Given the description of an element on the screen output the (x, y) to click on. 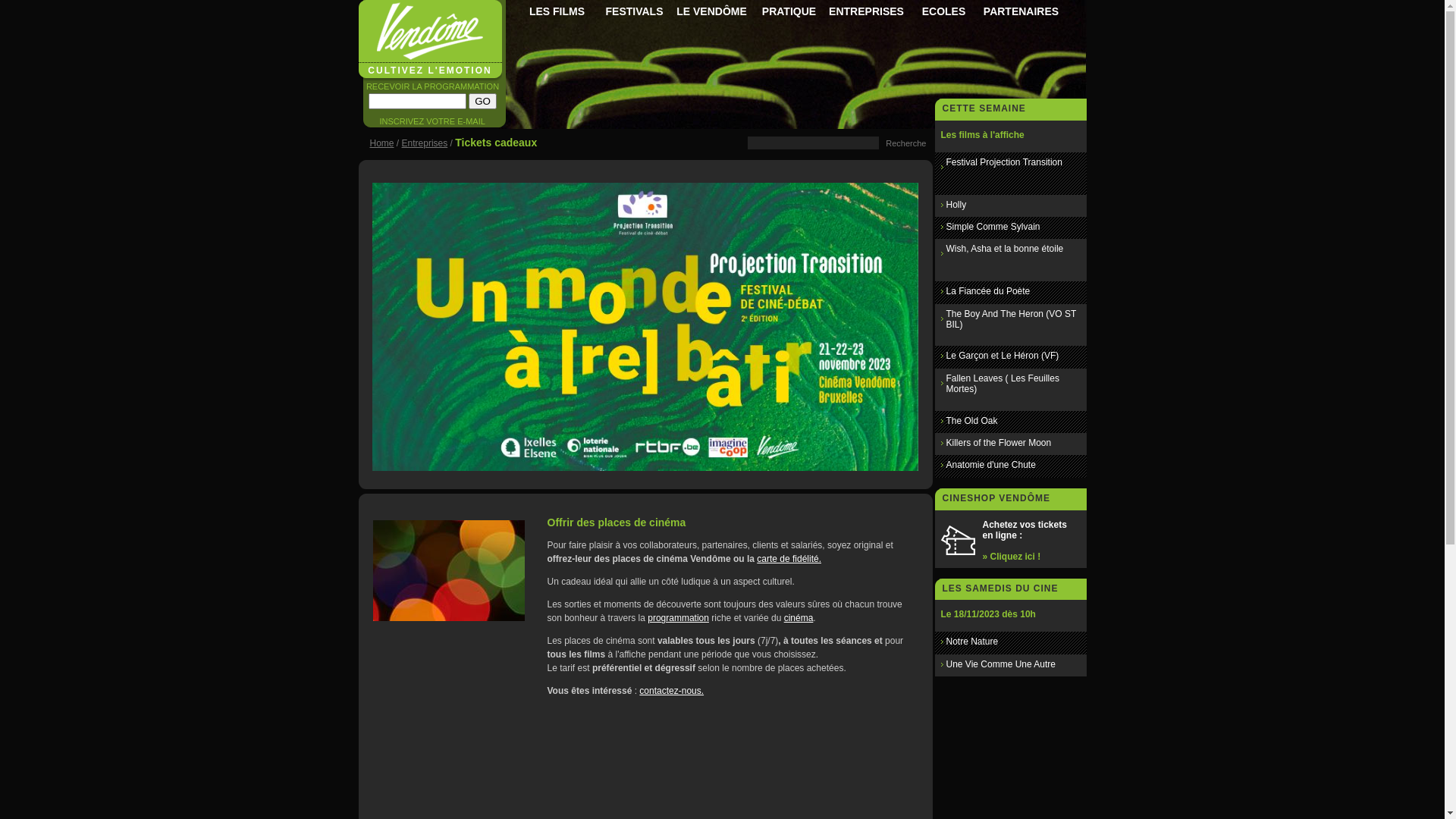
Cultivez l'Emotion Element type: hover (644, 467)
Inscrivez votre adresse email Element type: hover (417, 101)
Notre Nature Element type: text (972, 641)
Anatomie d'une Chute Element type: text (990, 464)
LES FILMS Element type: text (556, 11)
contactez-nous. Element type: text (671, 690)
Festival Projection Transition Element type: text (1004, 161)
Home Element type: text (382, 143)
Simple Comme Sylvain Element type: text (993, 226)
PRATIQUE Element type: text (788, 11)
GO Element type: text (482, 101)
Entreprises Element type: text (424, 143)
The Boy And The Heron (VO ST BIL) Element type: text (1011, 318)
FESTIVALS Element type: text (633, 11)
Holly Element type: text (956, 204)
Killers of the Flower Moon Element type: text (998, 442)
ECOLES Element type: text (943, 11)
The Old Oak Element type: text (971, 420)
Cliquez lancer l'inscription Element type: hover (482, 101)
PARTENAIRES Element type: text (1020, 11)
bubble 3 Element type: hover (448, 570)
ENTREPRISES Element type: text (865, 11)
Une Vie Comme Une Autre Element type: text (1001, 663)
Cliquez pour chercher Element type: hover (905, 143)
programmation Element type: text (678, 617)
Fallen Leaves ( Les Feuilles Mortes) Element type: text (1002, 383)
Recherche Element type: text (905, 143)
